Given the description of an element on the screen output the (x, y) to click on. 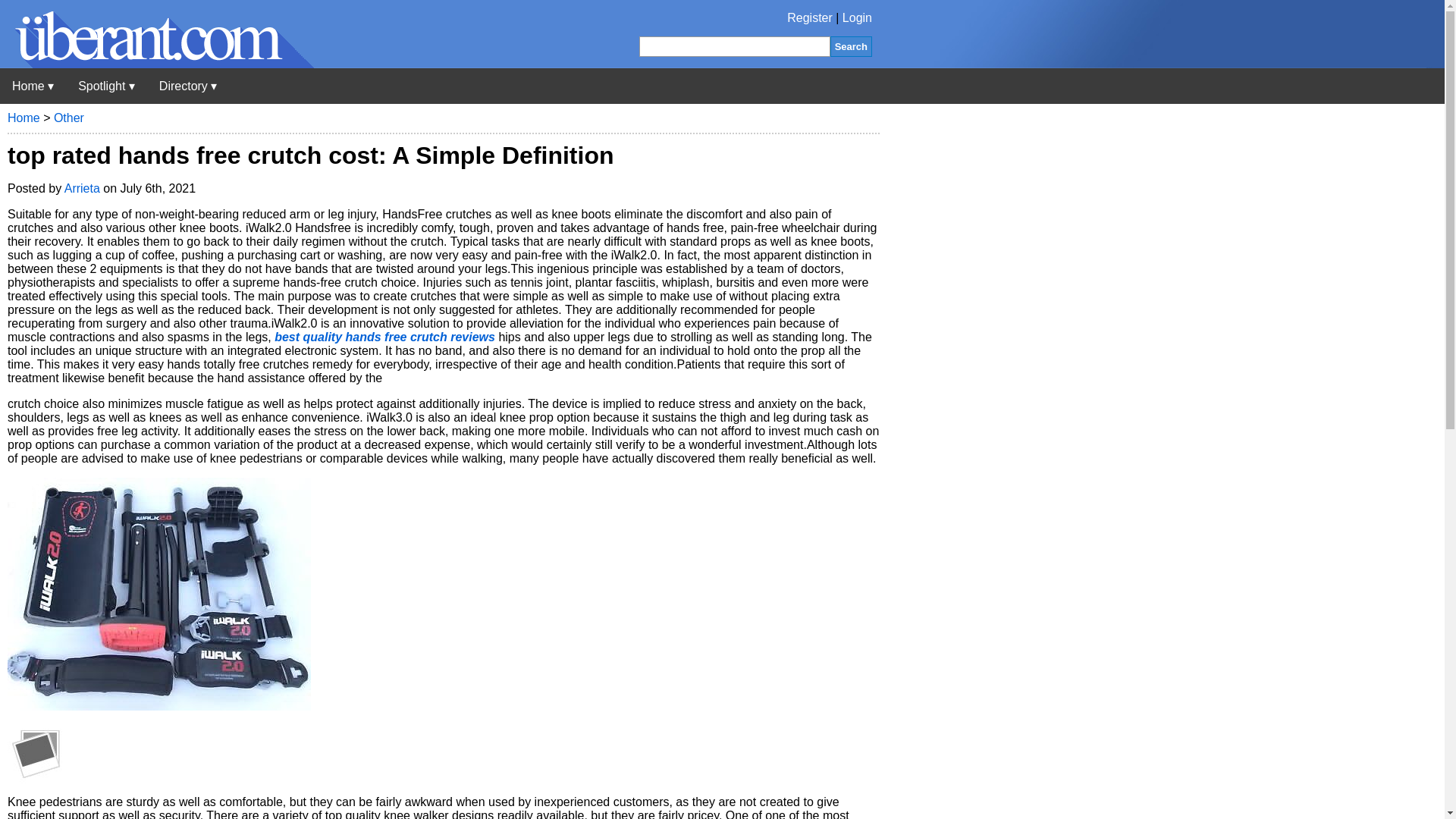
Uberant (32, 85)
Search (850, 46)
Register (809, 17)
Login (857, 17)
Search (850, 46)
Uberant (157, 63)
